Given the description of an element on the screen output the (x, y) to click on. 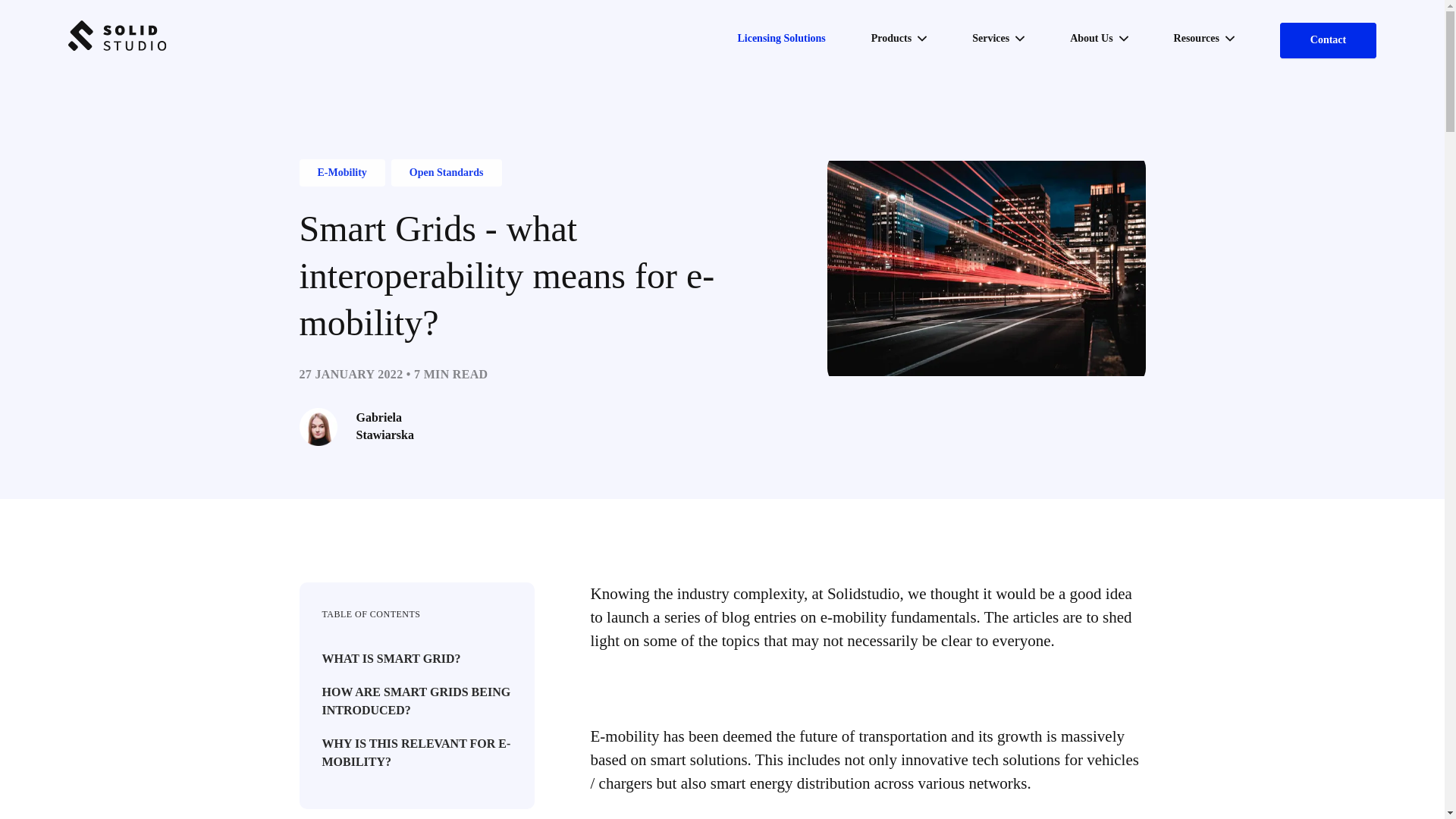
Reliable tech partner (117, 35)
Reliable tech partner (117, 47)
Licensing Solutions (780, 37)
Contact (1327, 40)
Solidstudio-prod (117, 47)
HOW ARE SMART GRIDS BEING INTRODUCED? (416, 701)
E-Mobility (341, 172)
WHY IS THIS RELEVANT FOR E-MOBILITY? (416, 752)
WHAT IS SMART GRID? (390, 659)
Open Standards (446, 172)
